Given the description of an element on the screen output the (x, y) to click on. 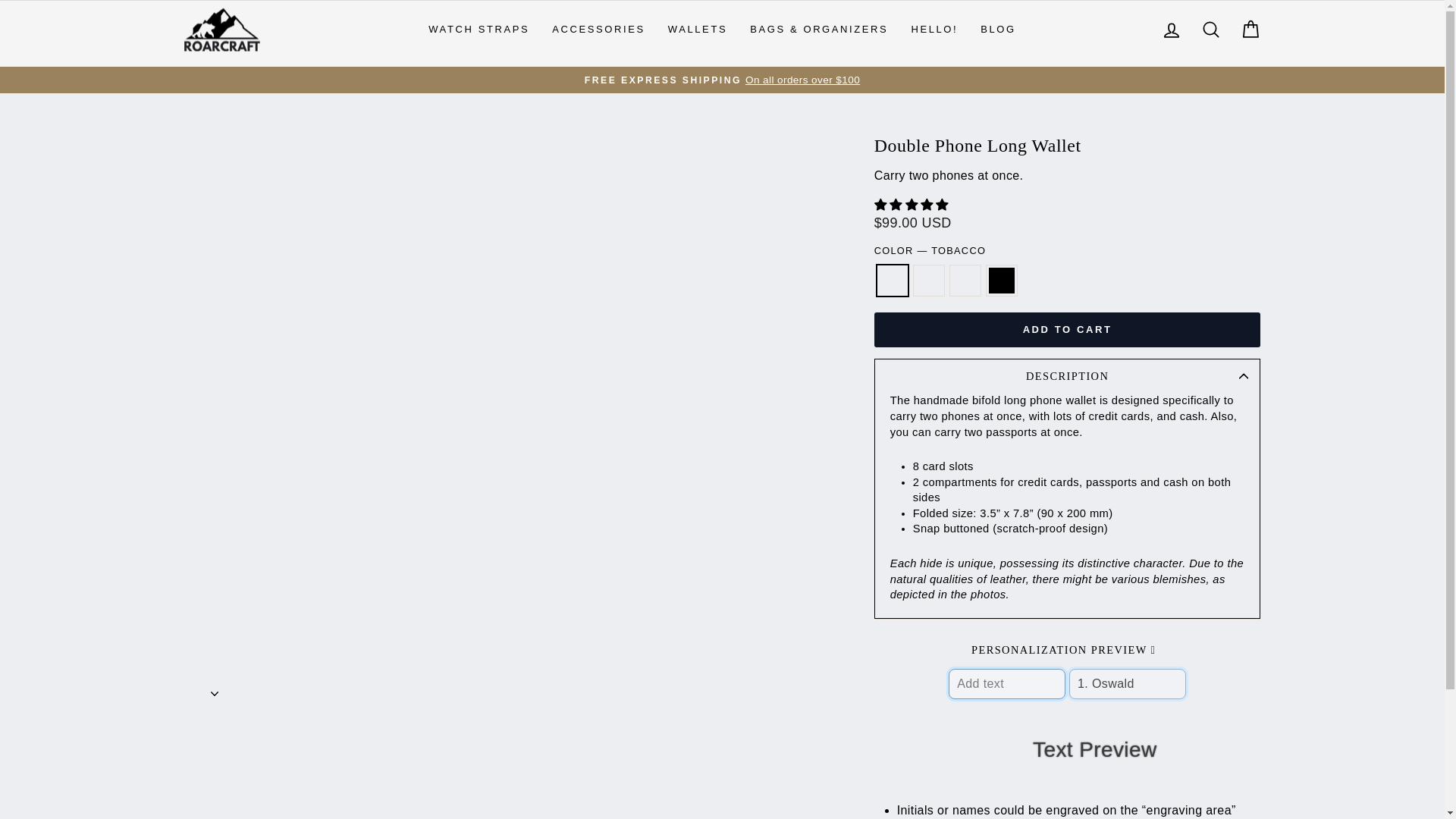
WATCH STRAPS (478, 29)
ACCESSORIES (598, 29)
